Given the description of an element on the screen output the (x, y) to click on. 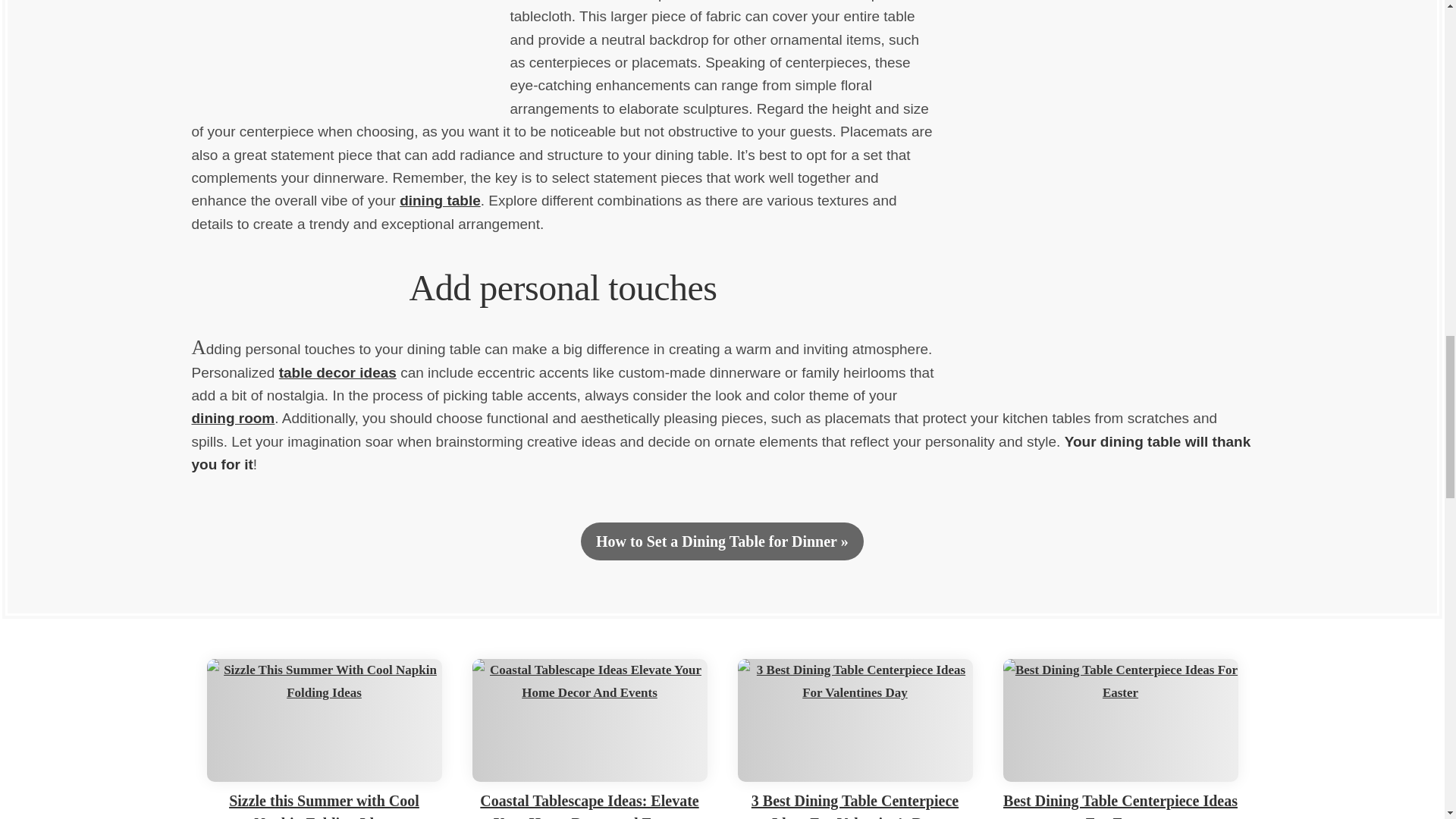
best dining table centerpiece ideas for easter jpg (1120, 720)
sizzle this summer with cool napkin folding ideas jpg (323, 720)
Setting The Perfect Floral Dinner Table (349, 59)
3 best dining table centerpiece ideas for valentines day jpg (854, 720)
